Given the description of an element on the screen output the (x, y) to click on. 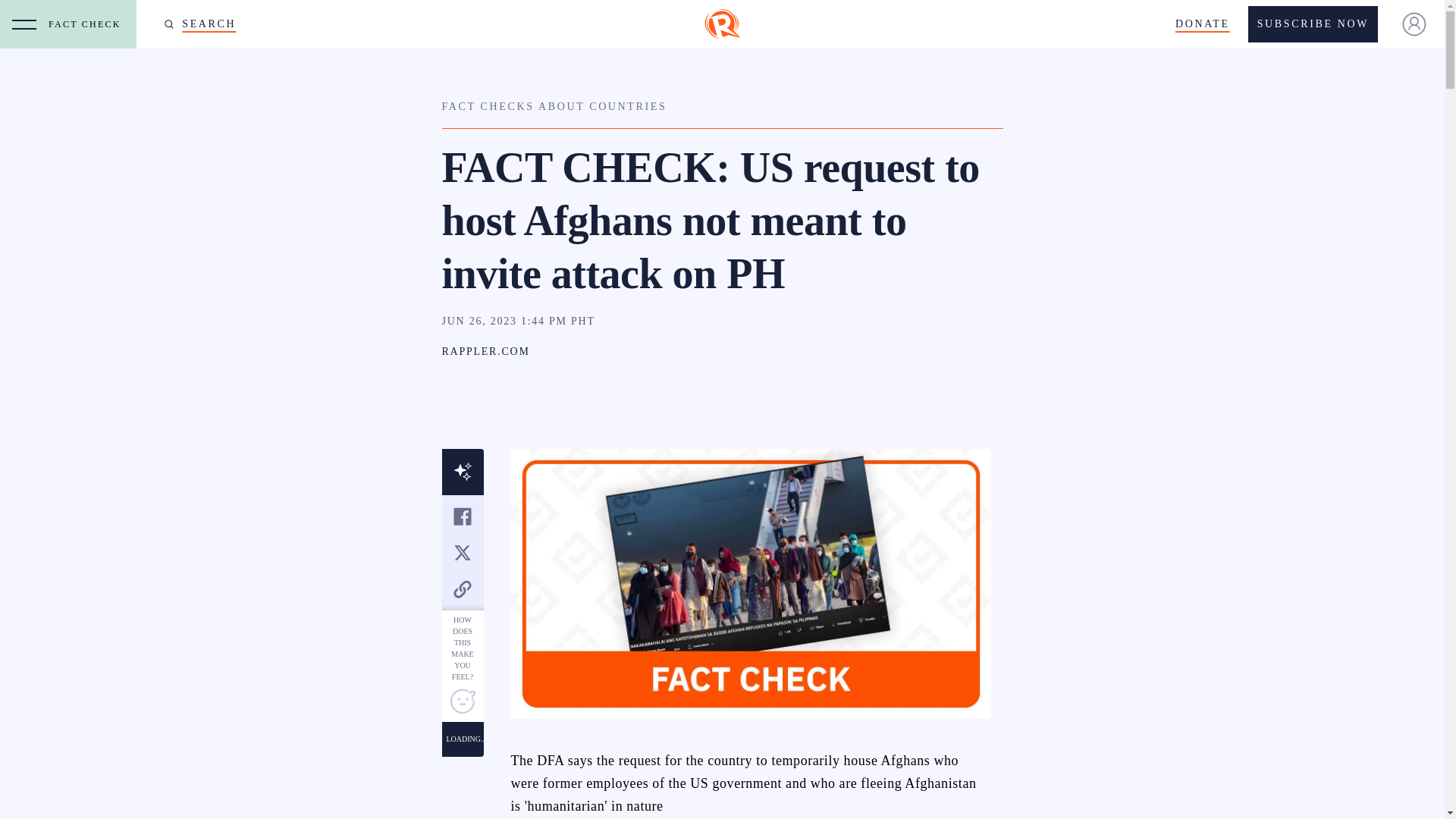
FACT CHECK (88, 23)
OPEN NAVIGATION (24, 24)
